Given the description of an element on the screen output the (x, y) to click on. 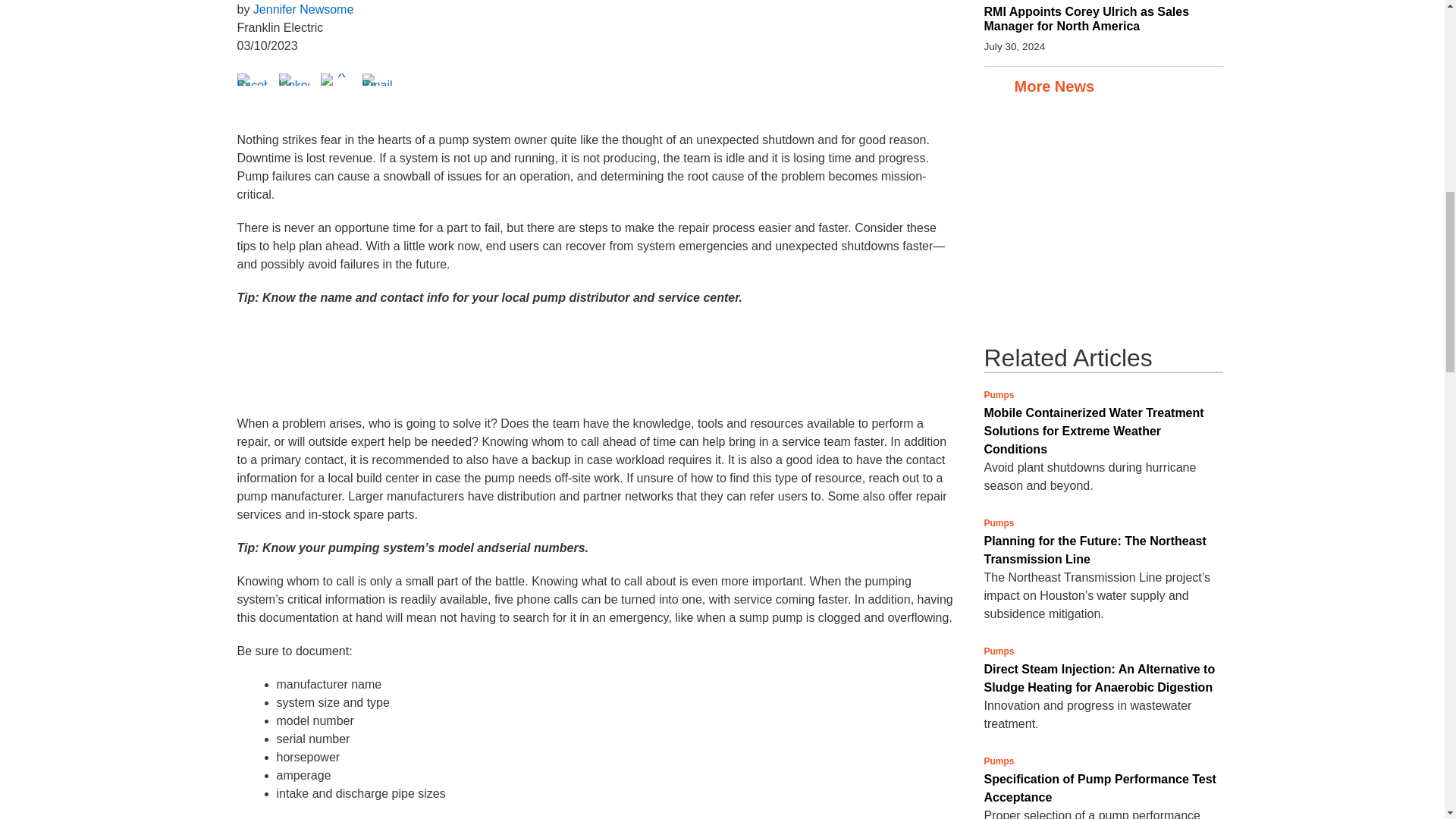
X (335, 78)
3rd party ad content (1097, 221)
Linkedin (293, 78)
Facebook (250, 78)
3rd party ad content (594, 368)
Email (377, 78)
